Given the description of an element on the screen output the (x, y) to click on. 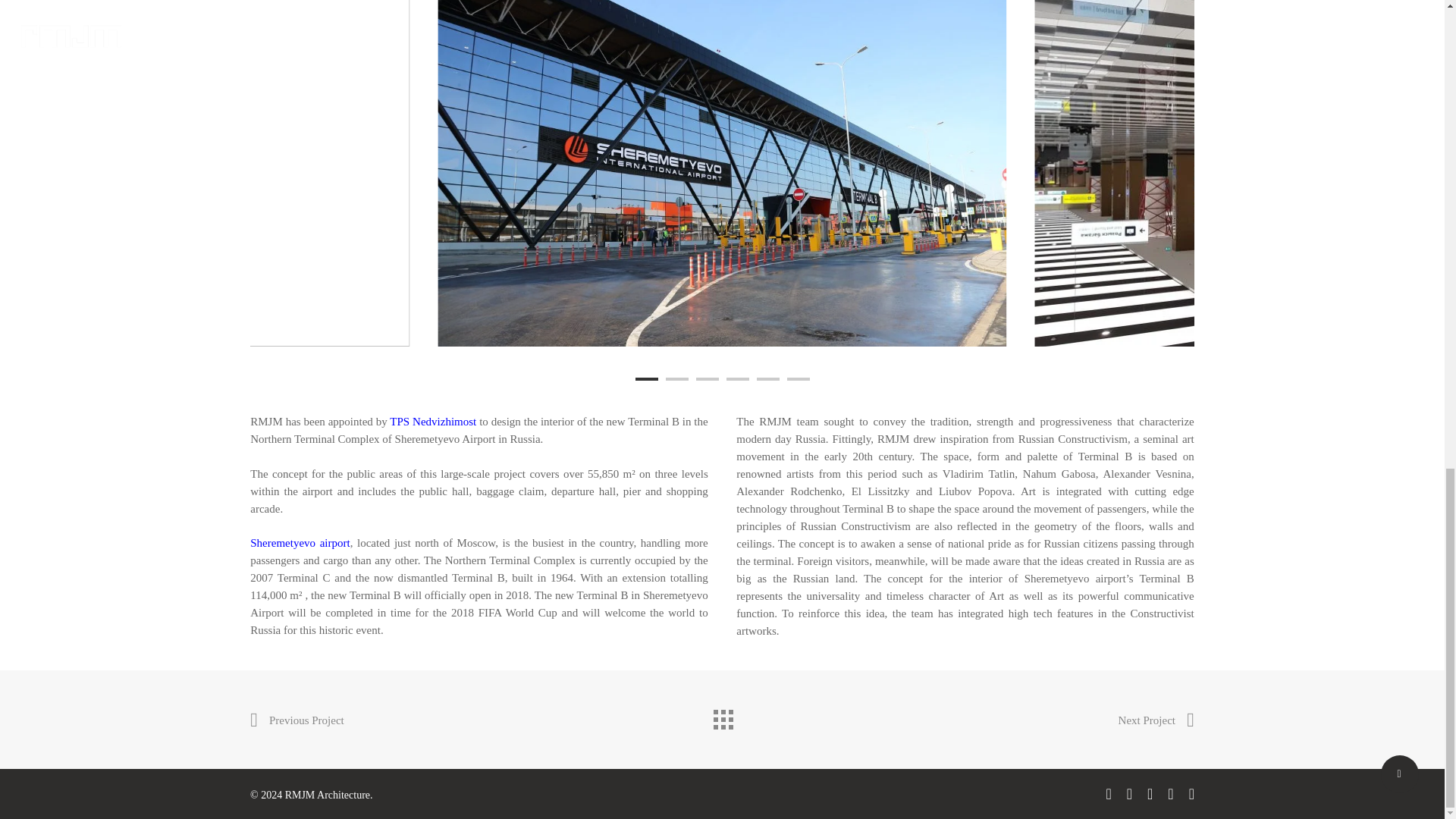
Next Project (1155, 720)
Back to all projects (721, 716)
Sheremetyevo airport (299, 542)
Previous Project (296, 720)
TPS Nedvizhimost (433, 421)
